Given the description of an element on the screen output the (x, y) to click on. 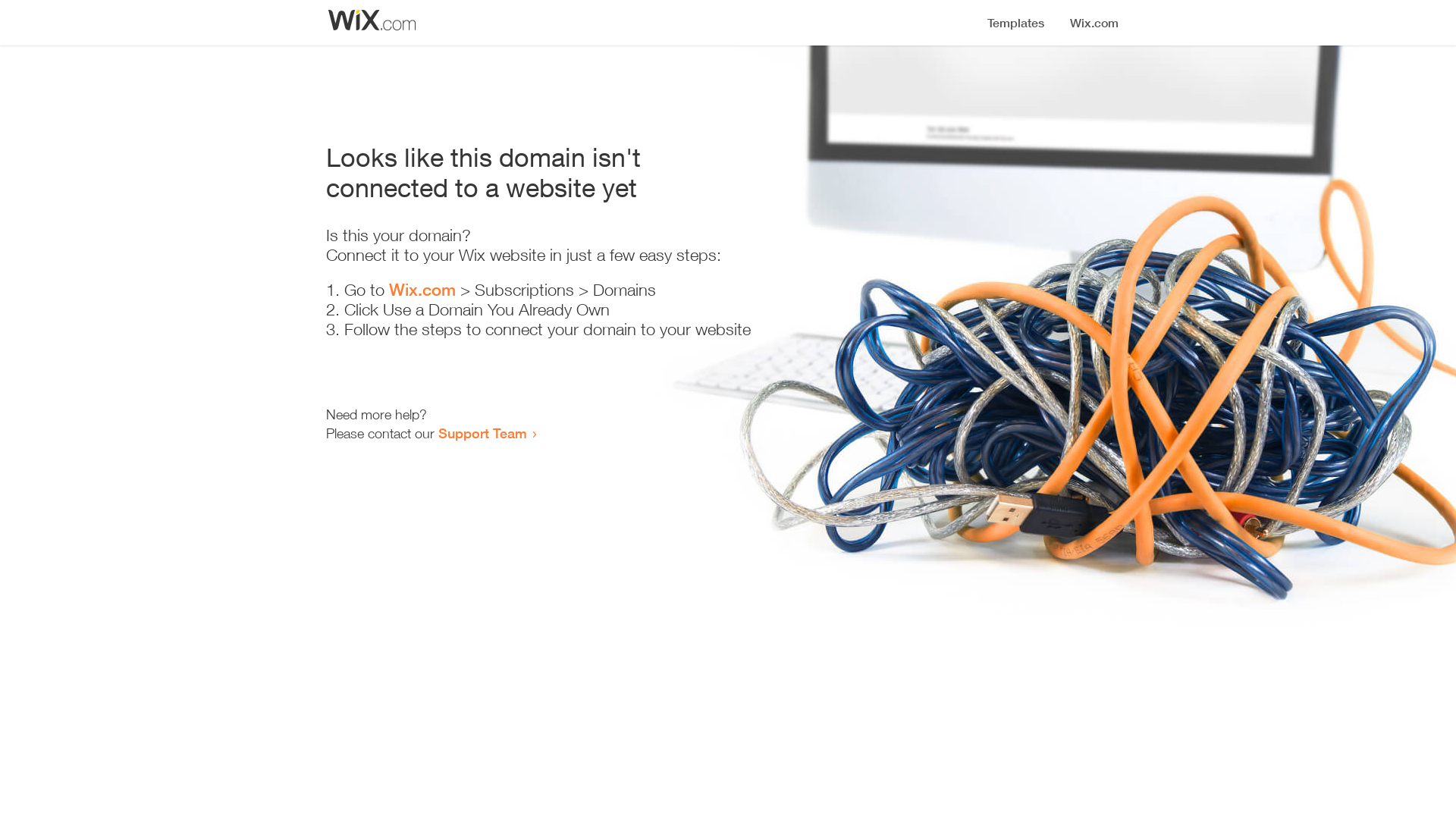
Support Team Element type: text (482, 432)
Wix.com Element type: text (422, 289)
